Given the description of an element on the screen output the (x, y) to click on. 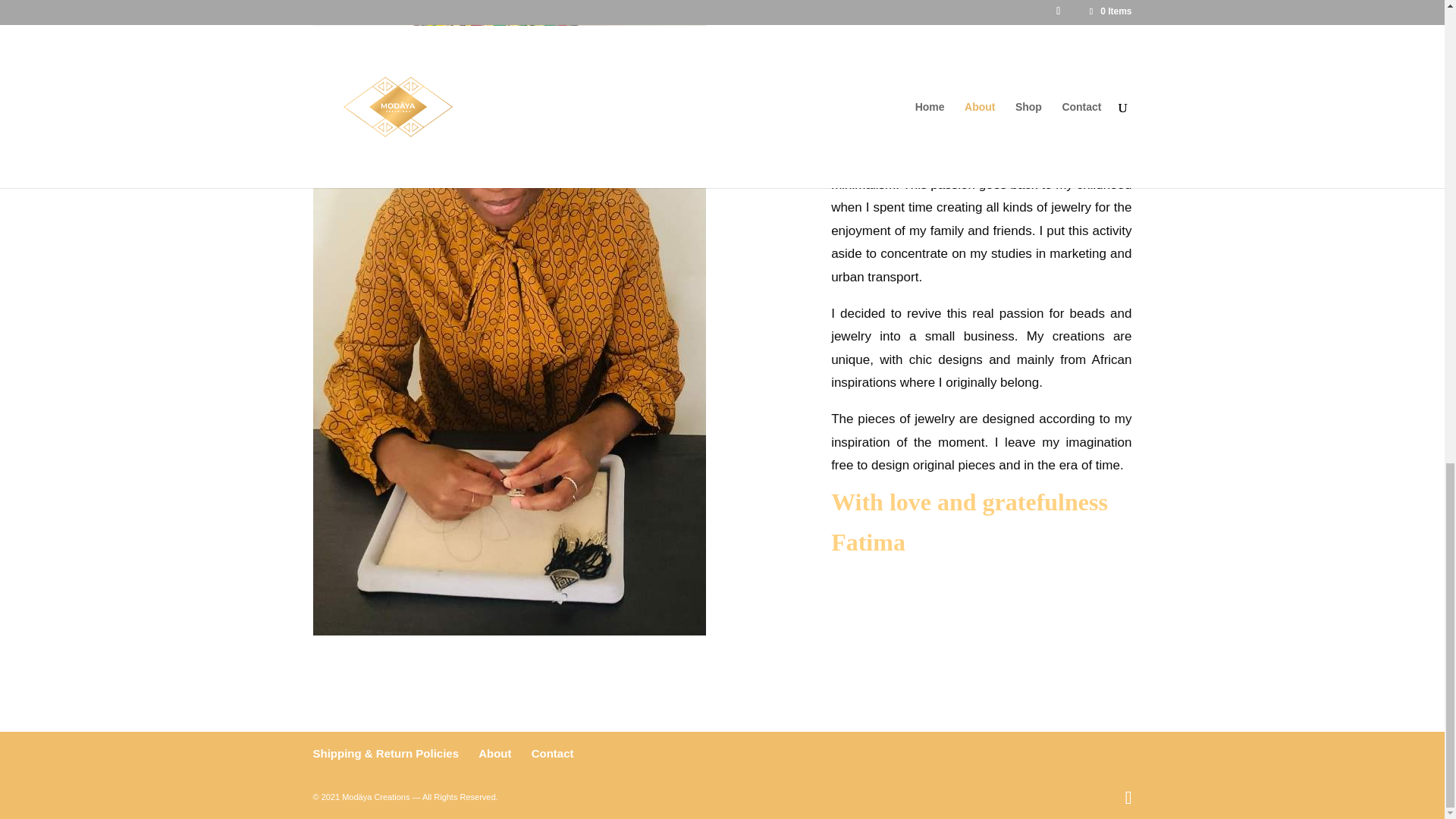
Contact (552, 753)
About (495, 753)
